Given the description of an element on the screen output the (x, y) to click on. 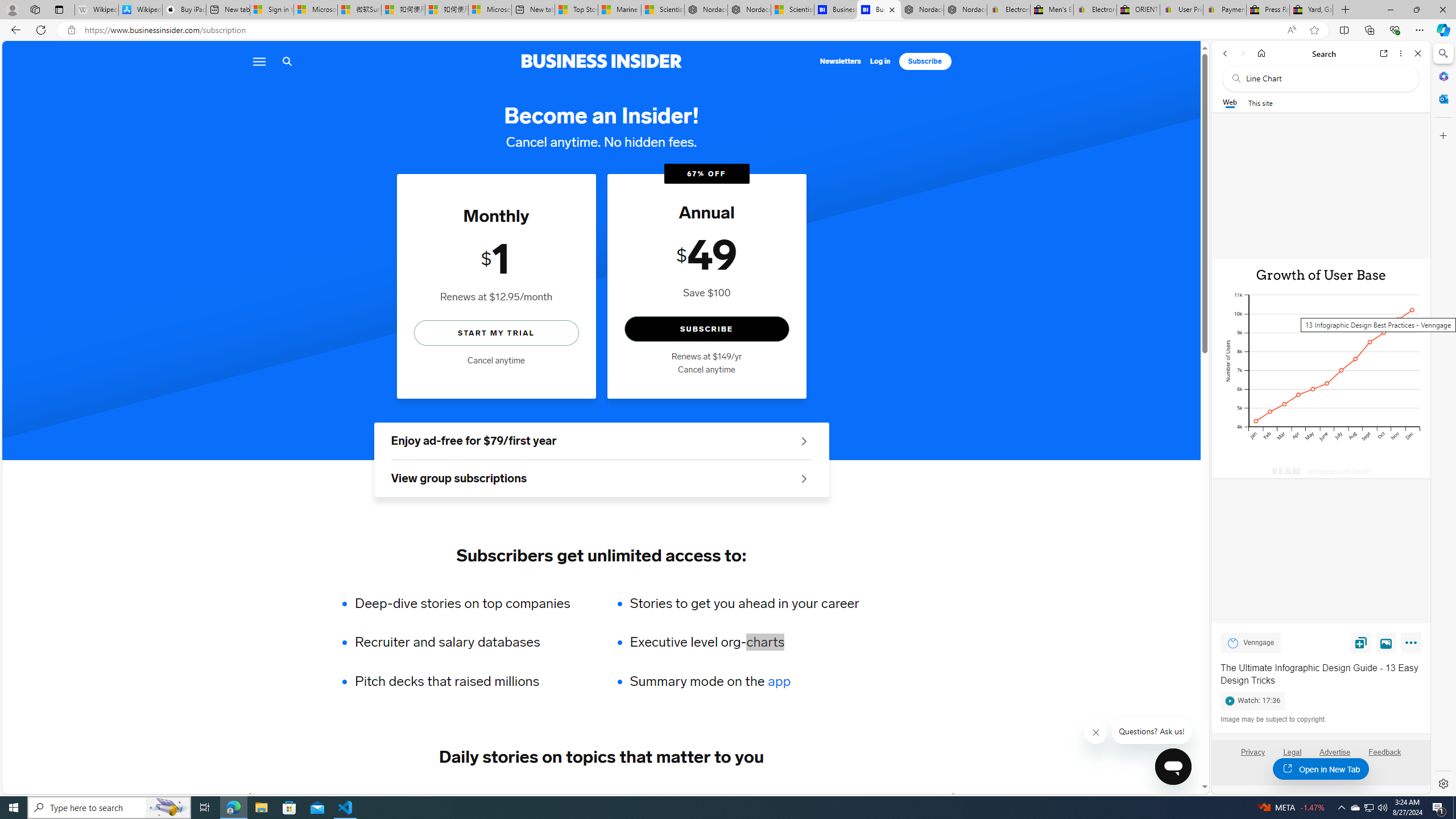
Subscribe (925, 61)
Recruiter and salary databases (470, 642)
EXECUTIVE LIFESTYLE (788, 796)
Business Insider logo (601, 60)
Enjoy ad-free for $79/first year (601, 441)
HEALTHCARE (680, 796)
TECH (280, 796)
